Given the description of an element on the screen output the (x, y) to click on. 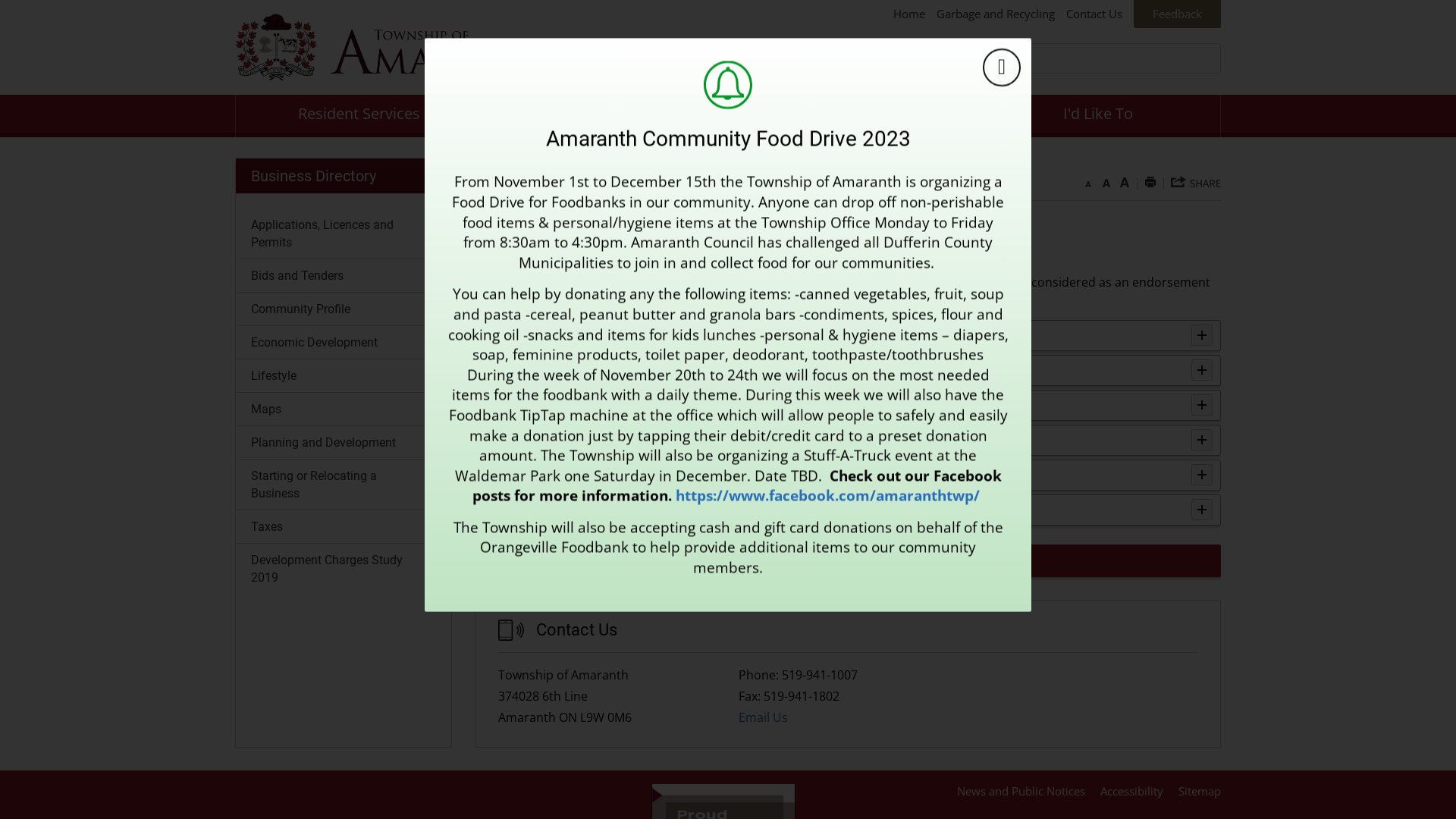
Accessibility Element type: text (1131, 790)
Bids and Tenders Element type: text (343, 275)
Do Business Element type: text (605, 115)
Resident Services Element type: text (358, 115)
Home Element type: text (909, 14)
Applications, Licences and Permits Element type: text (343, 233)
Lifestyle Element type: text (343, 375)
Community Profile Element type: text (343, 308)
 Automotive Element type: text (516, 404)
I'd Like To Element type: text (1097, 115)
Economic Development Element type: text (343, 342)
Feedback Element type: text (1176, 14)
Artistry Element type: text (503, 369)
Planning and Development Element type: text (343, 442)
 Services Element type: text (506, 509)
Do Business Element type: text (552, 213)
https://www.facebook.com/amaranthtwp/  Element type: text (829, 495)
 Recreation Element type: text (513, 439)
Development Charges Study 2019 Element type: text (343, 568)
 Agriculture Element type: text (515, 334)
News and Public Notices Element type: text (1021, 790)
 Retail Element type: text (498, 474)
Receive Email Updates... Element type: text (847, 560)
View our Homepage Element type: hover (401, 47)
Garbage and Recycling Element type: text (995, 14)
Home Element type: text (490, 213)
Business Directory Element type: text (343, 175)
Sitemap Element type: text (1199, 790)
Contact Us Element type: text (1094, 14)
Skip to Content Element type: text (0, 0)
Municipal Government Element type: text (851, 115)
Maps Element type: text (343, 408)
Starting or Relocating a Business Element type: text (343, 484)
Taxes Element type: text (343, 526)
Email Us Element type: text (762, 717)
